Given the description of an element on the screen output the (x, y) to click on. 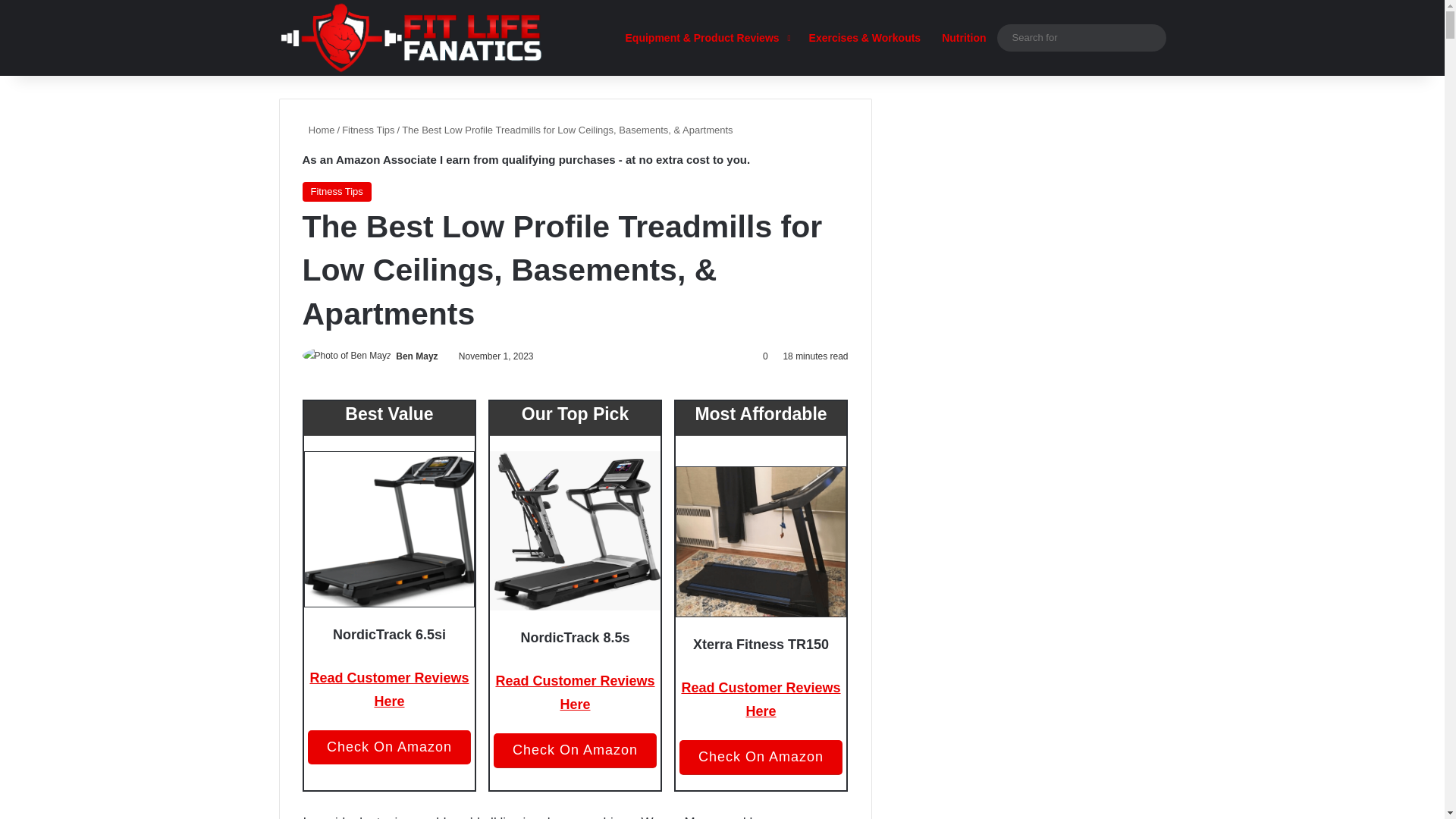
Ben Mayz (417, 356)
Check On Amazon (388, 747)
Read Customer Reviews Here (760, 699)
Check On Amazon (574, 750)
Read Customer Reviews Here (388, 690)
best value low profile treadmill (389, 529)
Search for (1150, 37)
Check On Amazon (761, 757)
Fitness Tips (368, 129)
Home (317, 129)
